Given the description of an element on the screen output the (x, y) to click on. 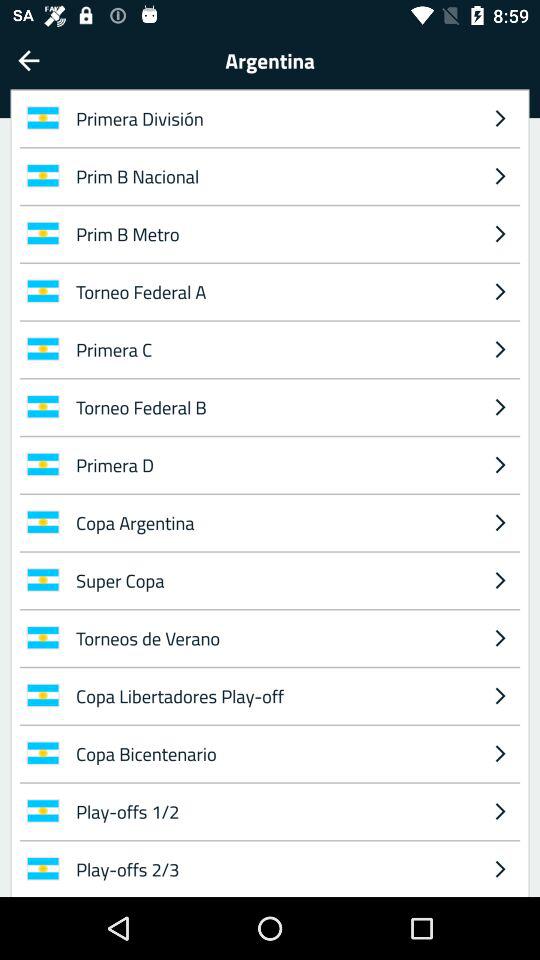
click copa bicentenario icon (273, 753)
